Given the description of an element on the screen output the (x, y) to click on. 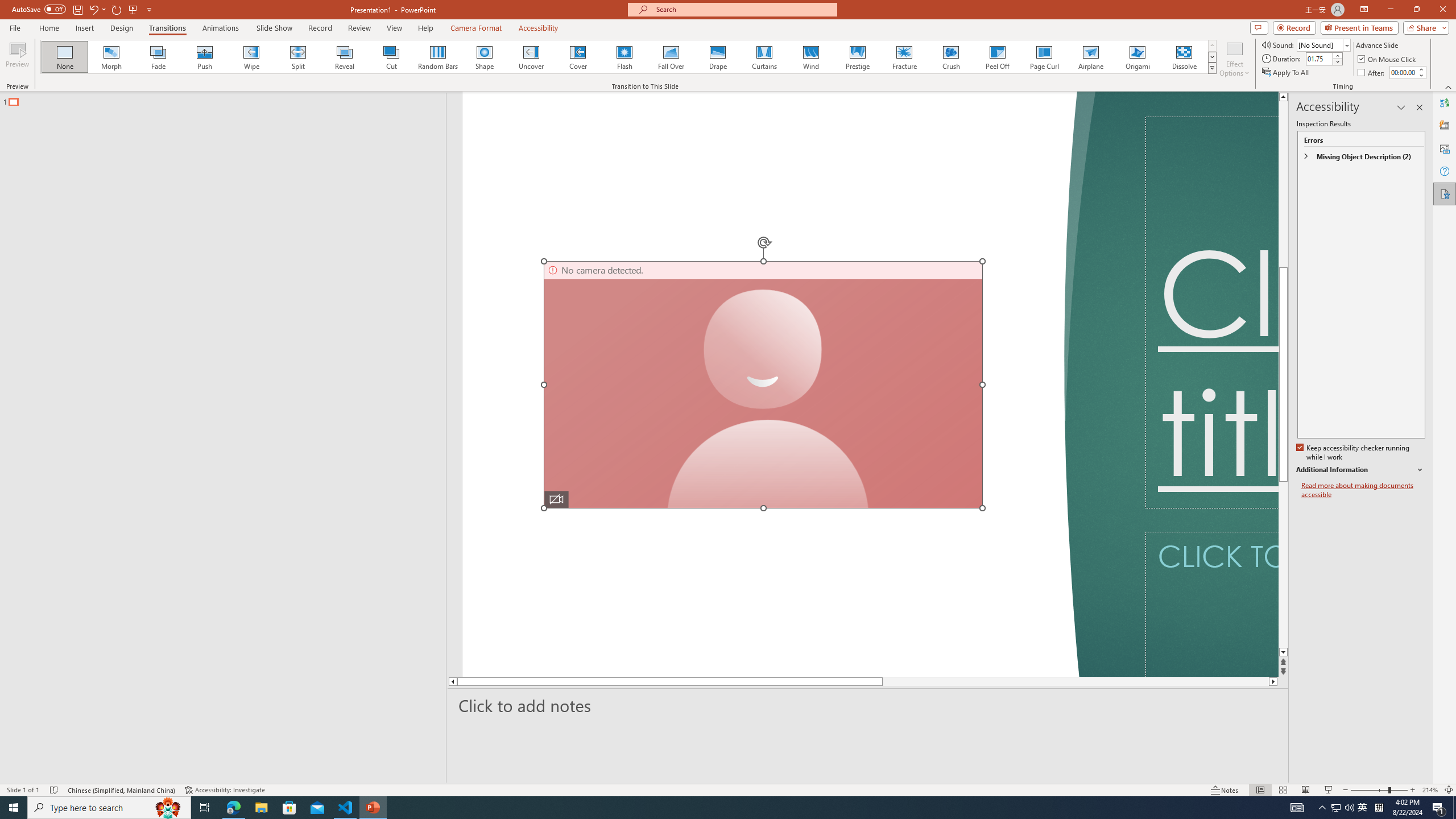
Task Pane Options (1400, 107)
Row up (1212, 45)
Designer (1444, 125)
File Tab (15, 27)
Wipe (251, 56)
Camera 7, No camera detected. (762, 384)
Close (1442, 9)
Rectangle (216, 437)
Split (298, 56)
Title TextBox (1211, 312)
Slide Notes (868, 705)
Animations (220, 28)
Comments (1259, 27)
View (395, 28)
Spell Check No Errors (54, 790)
